Given the description of an element on the screen output the (x, y) to click on. 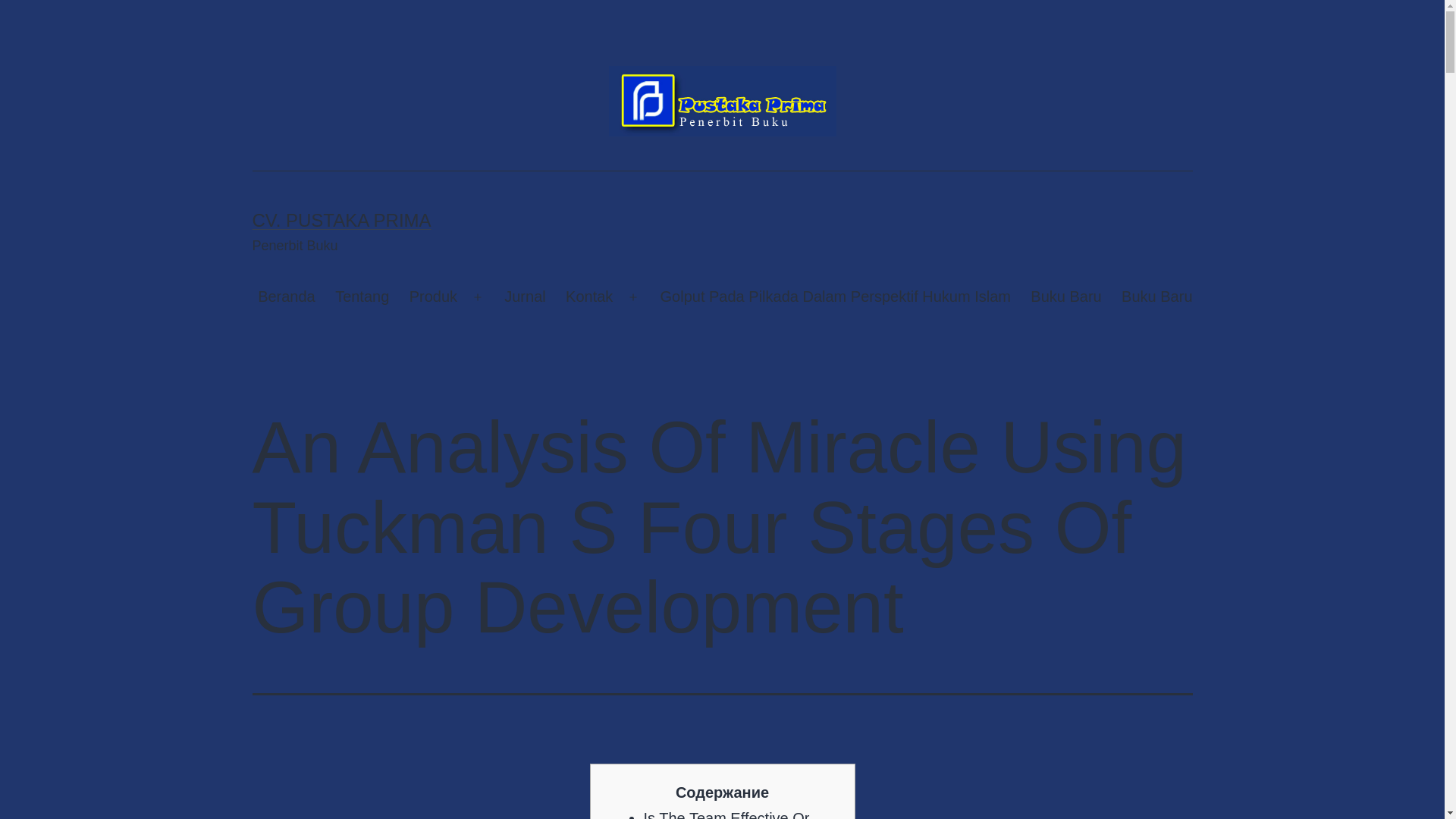
Golput Pada Pilkada Dalam Perspektif Hukum Islam (834, 297)
Buku Baru (1157, 297)
Tentang (361, 297)
Buku Baru (1066, 297)
Jurnal (525, 297)
Is The Team Effective Or Not? (726, 814)
CV. PUSTAKA PRIMA (340, 219)
Beranda (285, 297)
Produk (432, 297)
Kontak (589, 297)
